Given the description of an element on the screen output the (x, y) to click on. 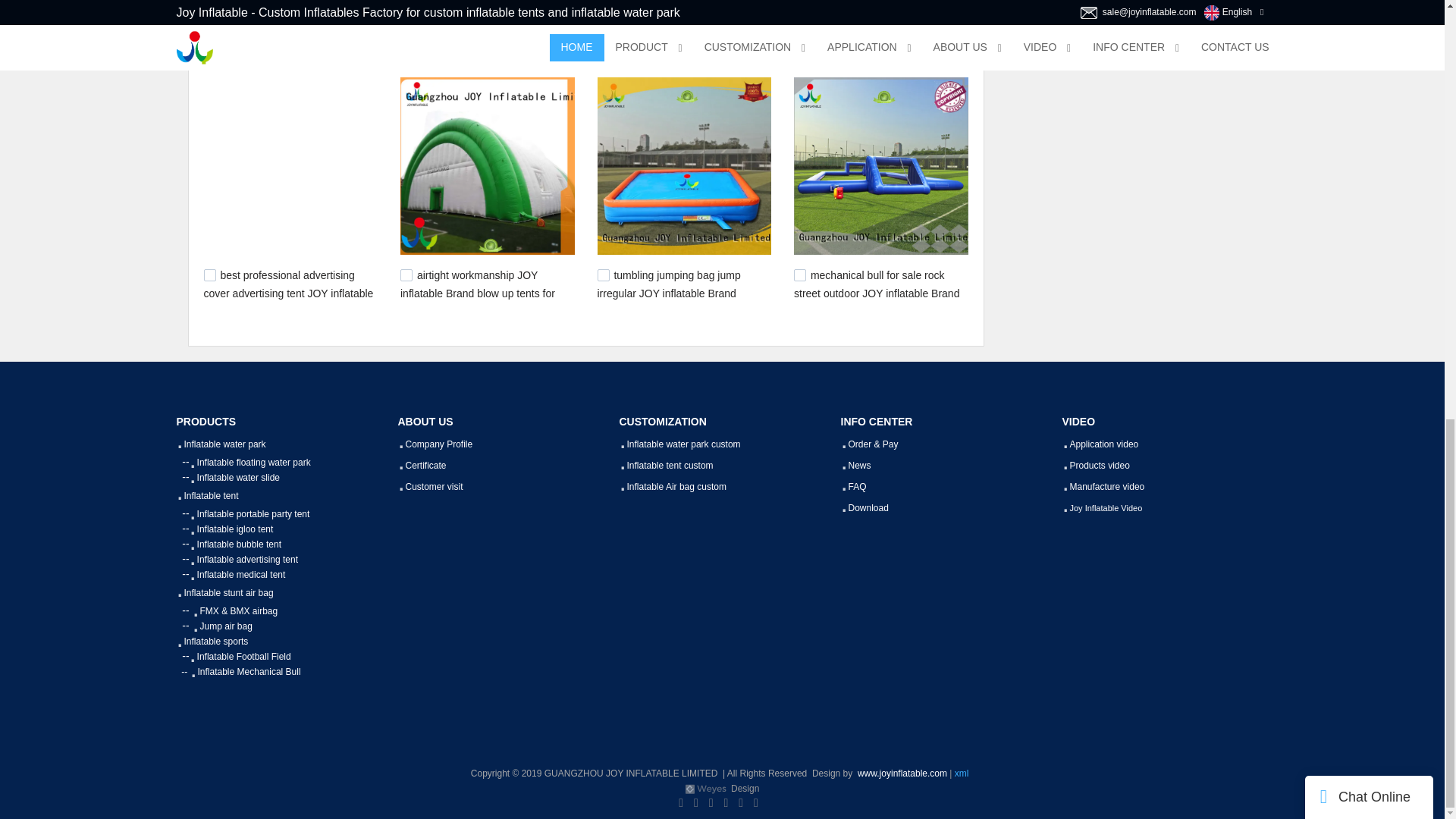
1882 (603, 29)
tumbling jumping bag jump irregular JOY inflatable Brand (668, 283)
1148 (799, 275)
1794 (406, 275)
1931 (209, 29)
1259 (603, 275)
1897 (406, 29)
